Given the description of an element on the screen output the (x, y) to click on. 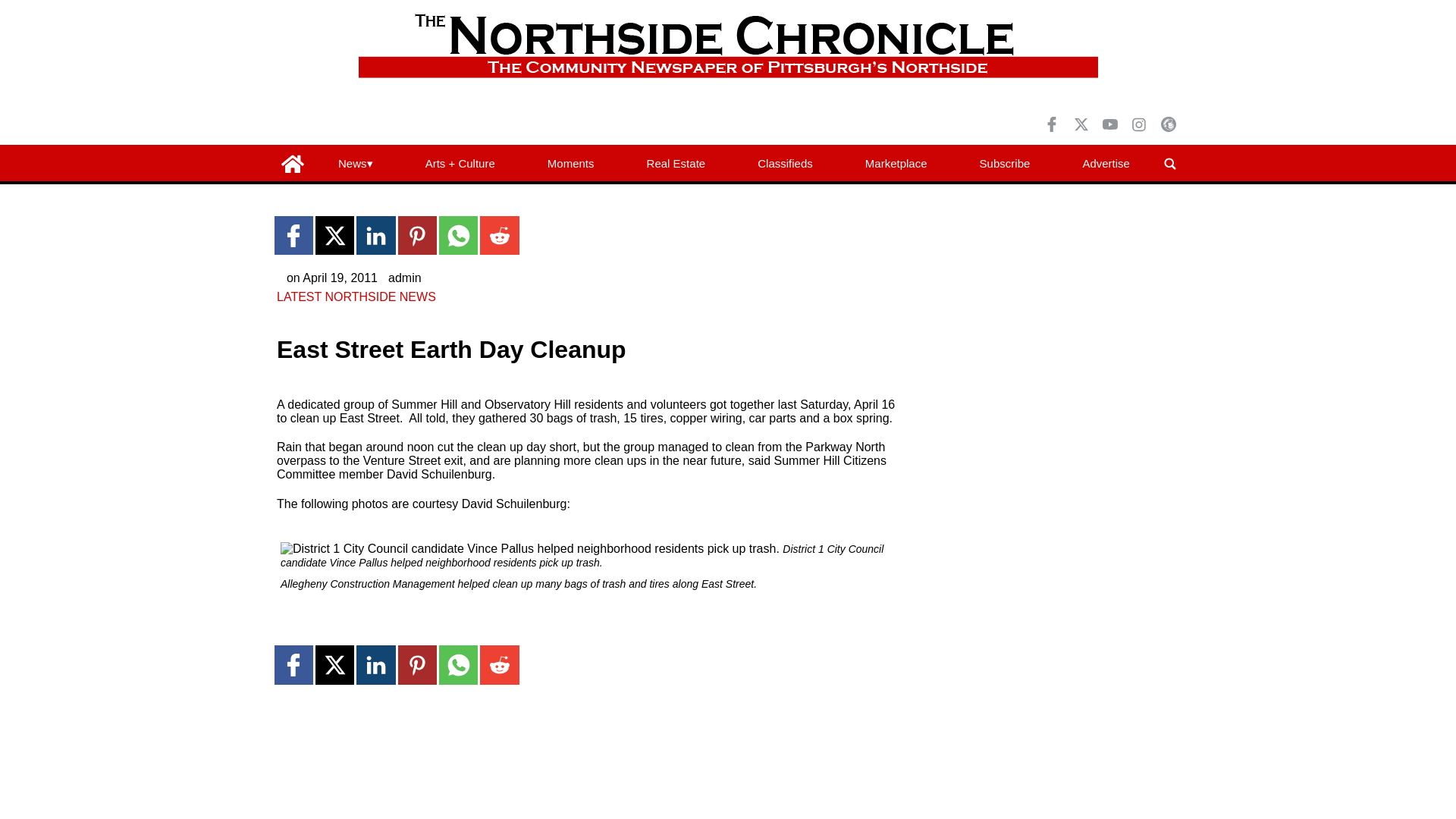
News (355, 164)
Moments (570, 163)
summer-hill-clean-up-01 (529, 549)
Classifieds (785, 163)
Real Estate (675, 163)
